Given the description of an element on the screen output the (x, y) to click on. 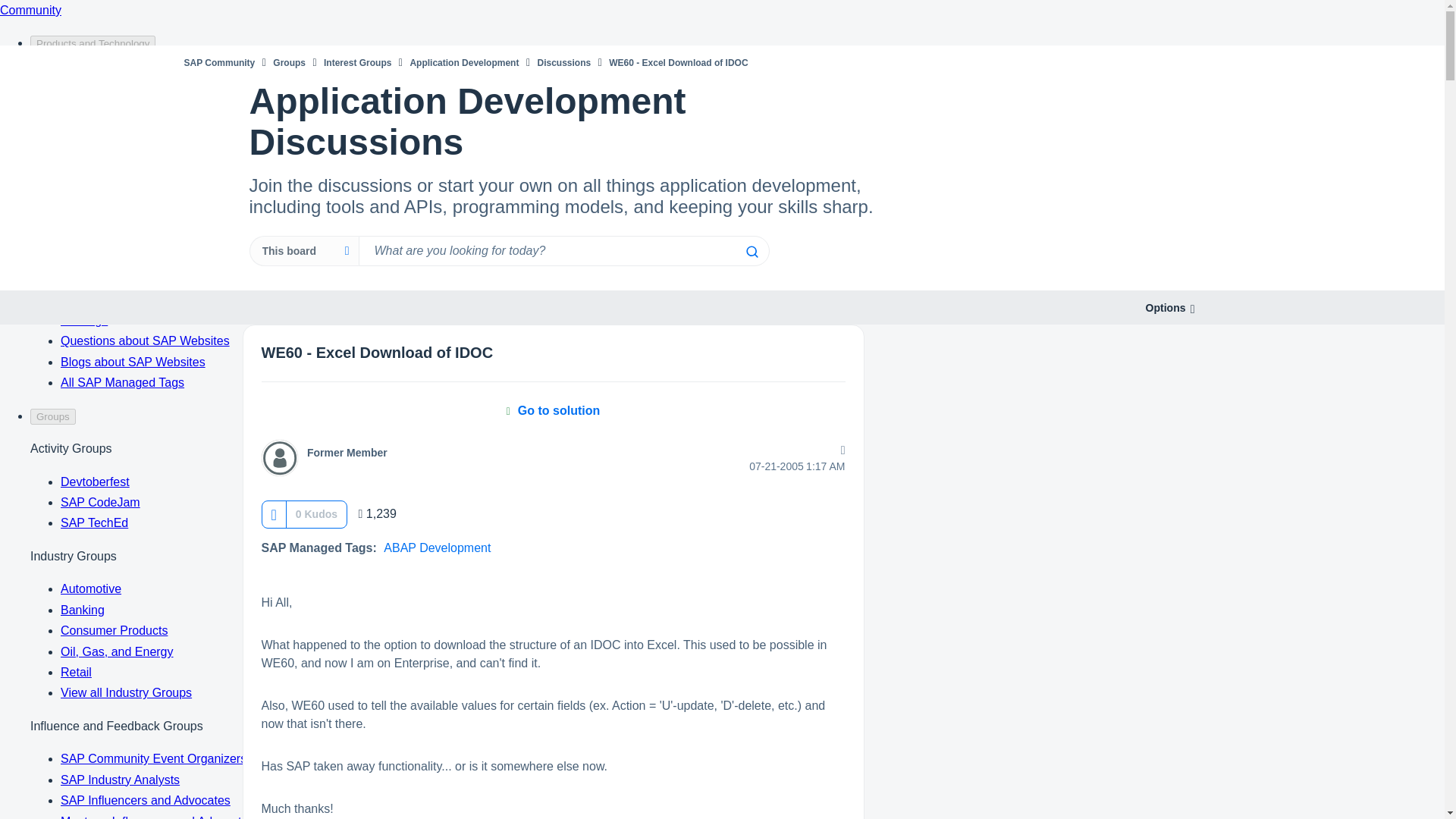
Search (750, 251)
Search (750, 251)
Click here to give kudos to this post. (274, 514)
Options (1165, 307)
ABAP Development (437, 547)
Search Granularity (303, 250)
Go to solution (552, 410)
Application Development (463, 62)
Groups (289, 62)
Show option menu (1165, 307)
